Given the description of an element on the screen output the (x, y) to click on. 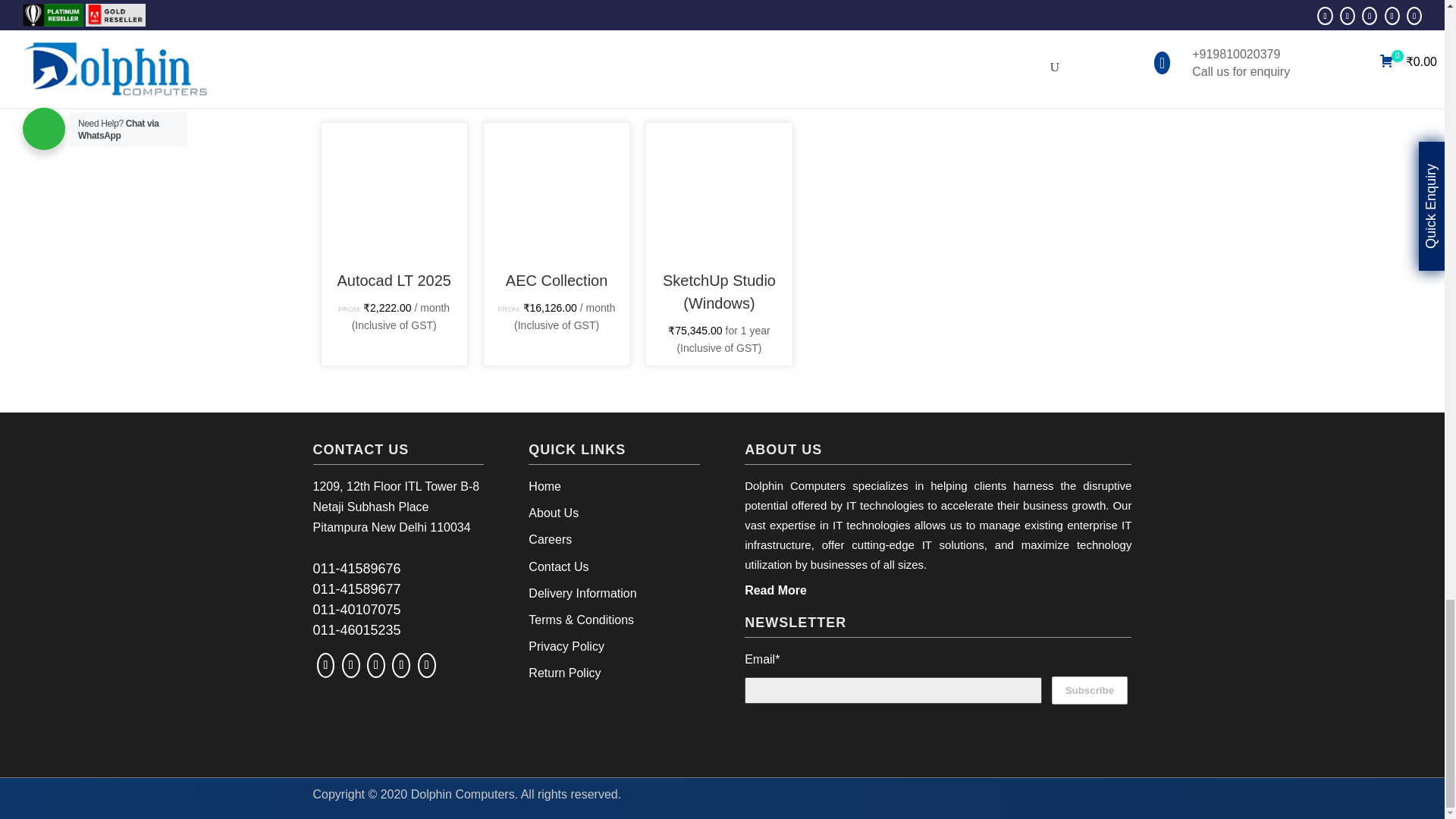
Subscribe (1088, 690)
Submit (1075, 11)
